Given the description of an element on the screen output the (x, y) to click on. 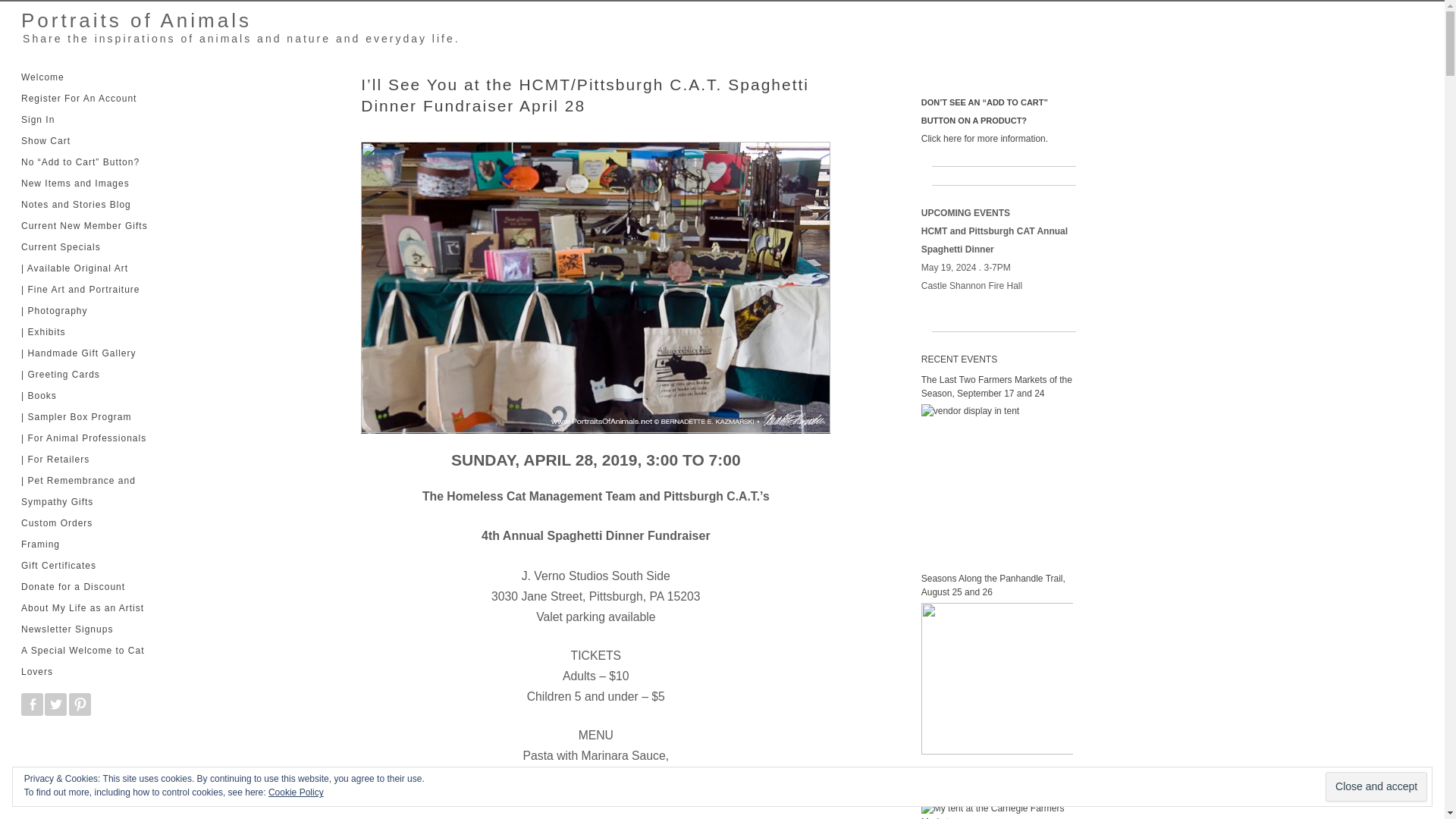
Close and accept (1375, 786)
Portraits of Animals (130, 20)
Skip to content (49, 72)
